Given the description of an element on the screen output the (x, y) to click on. 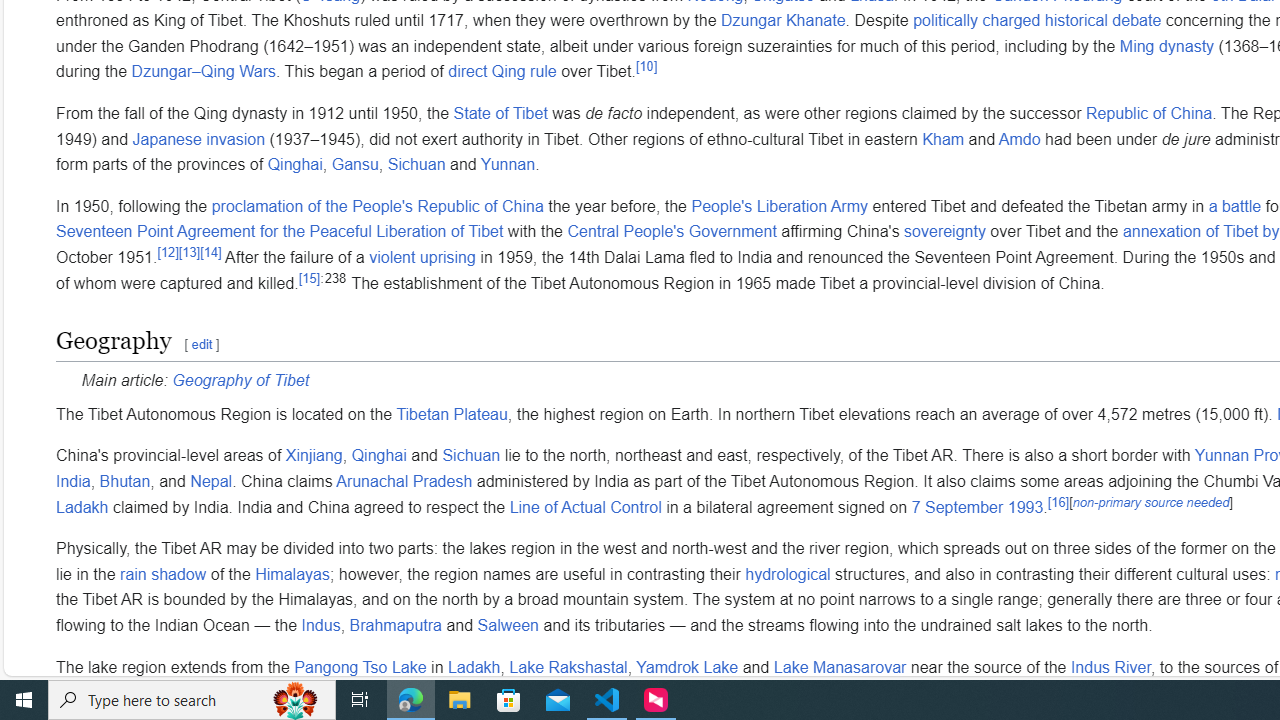
7 September 1993 (977, 507)
Brahmaputra (395, 625)
Bhutan (124, 482)
rain shadow (163, 574)
non-primary source needed (1151, 501)
Yamdrok Lake (687, 667)
Indus River (1110, 667)
Yunnan (508, 165)
edit (201, 344)
Indus (320, 625)
Sichuan (470, 456)
hydrological (787, 574)
direct Qing rule (502, 71)
Gansu (354, 165)
[10] (645, 66)
